Given the description of an element on the screen output the (x, y) to click on. 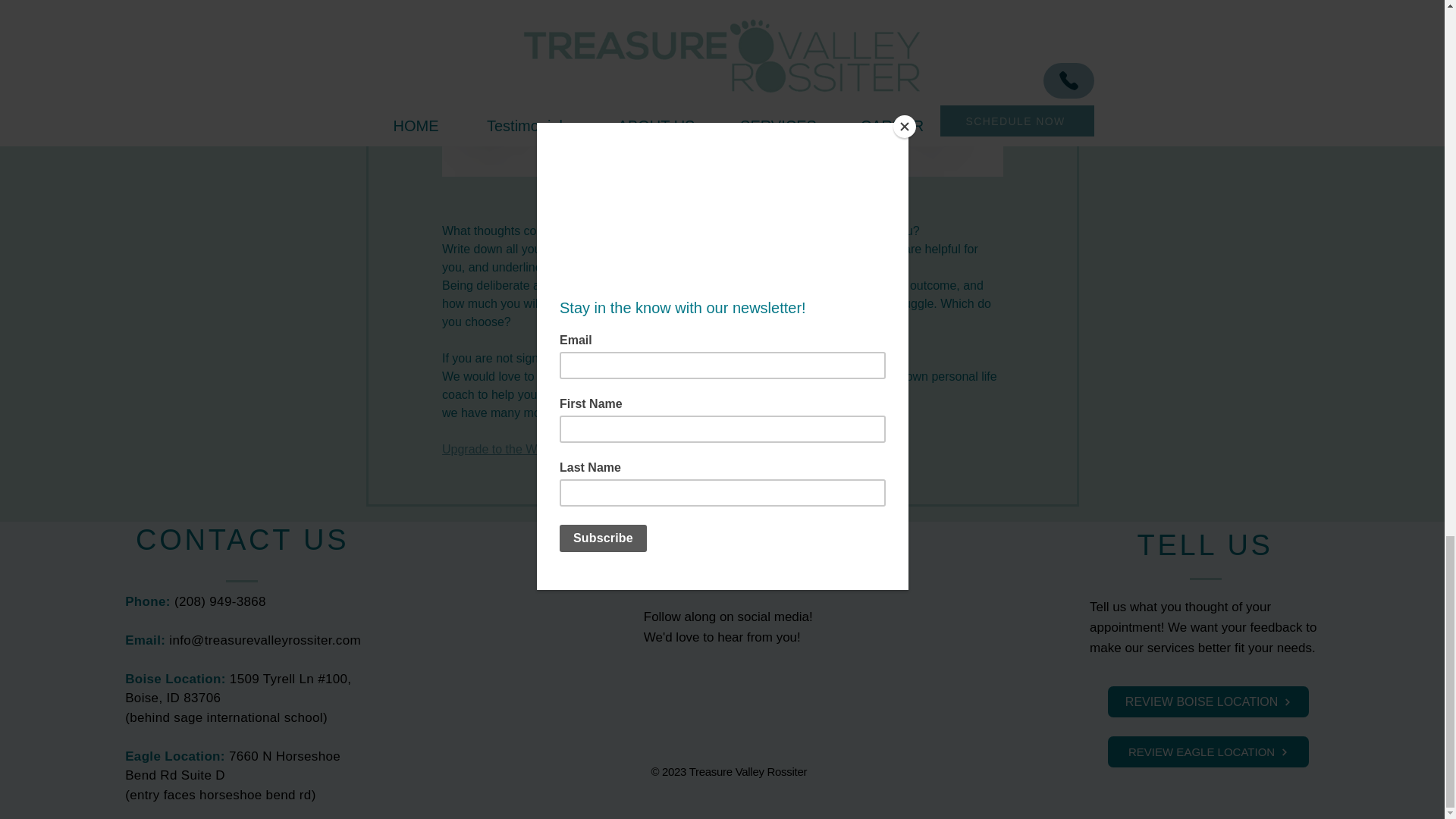
REVIEW EAGLE LOCATION (1208, 751)
Eagle Location: 7660 N Horseshoe Bend Rd Suite D (232, 765)
Phone:  (149, 601)
Upgrade to the Whole Body Reset by Clicking Here!  (582, 449)
REVIEW BOISE LOCATION (1208, 701)
